Given the description of an element on the screen output the (x, y) to click on. 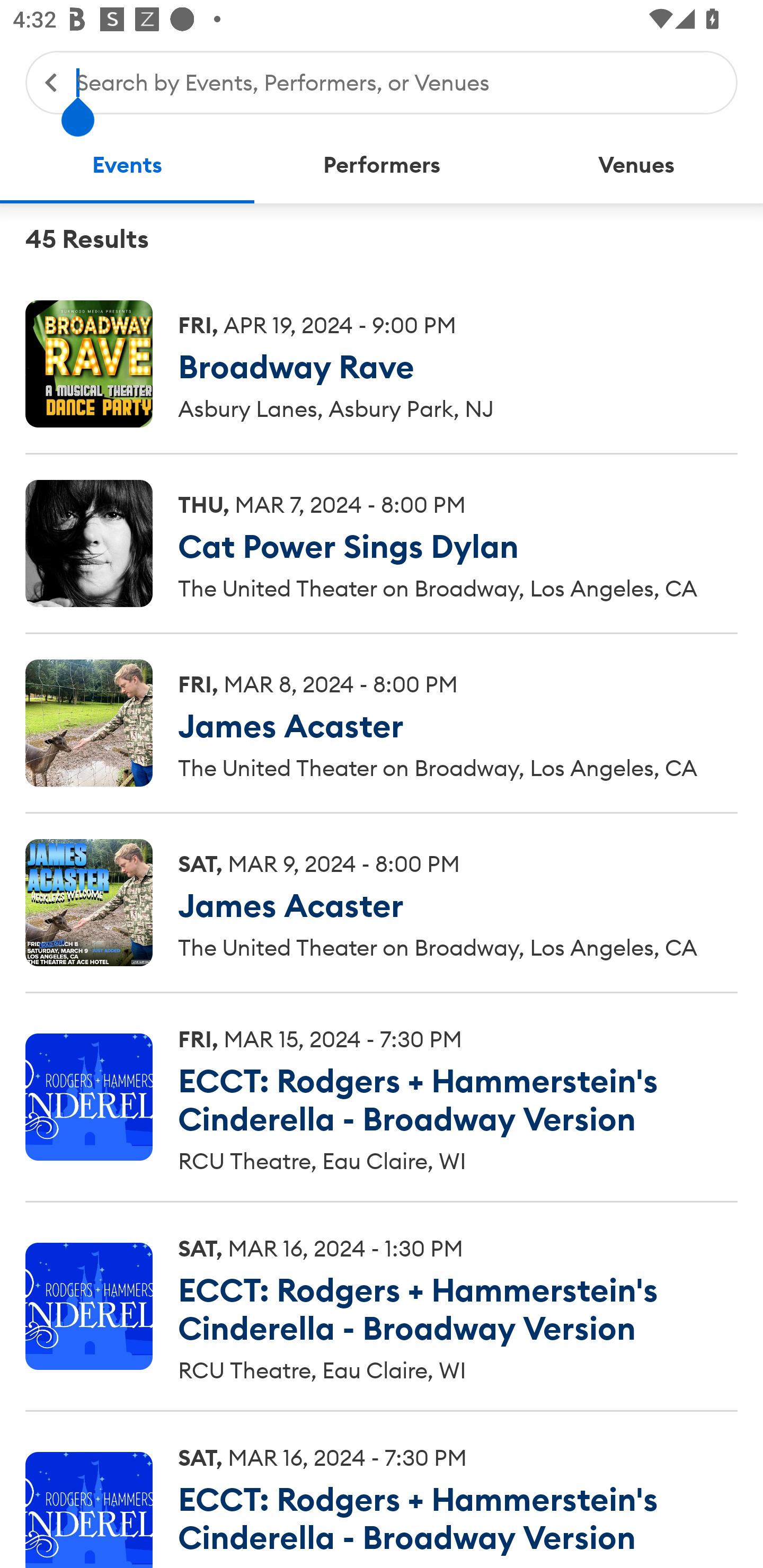
Performers (381, 165)
Venues (635, 165)
